Given the description of an element on the screen output the (x, y) to click on. 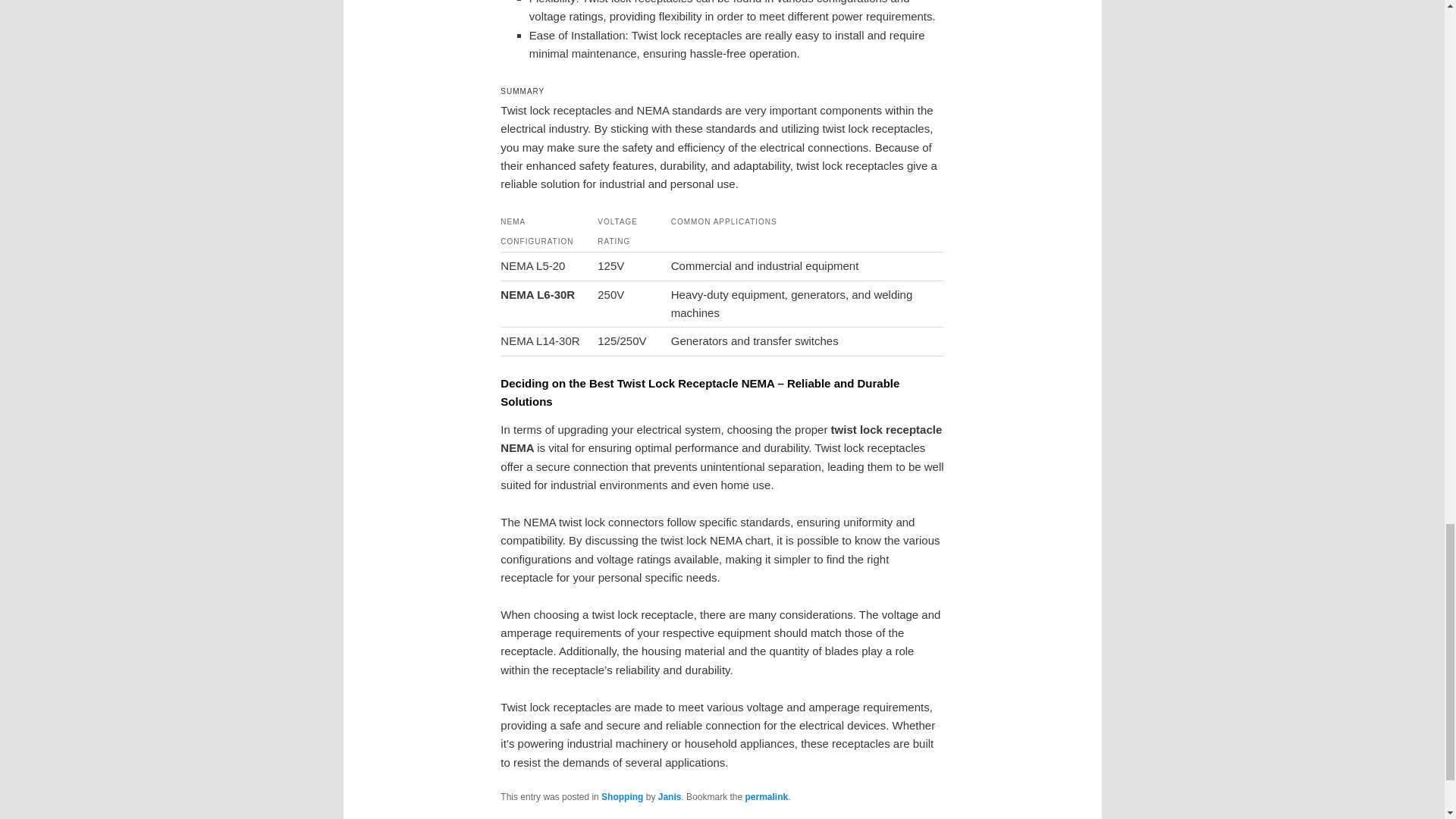
Shopping (622, 796)
Janis (669, 796)
permalink (765, 796)
